Given the description of an element on the screen output the (x, y) to click on. 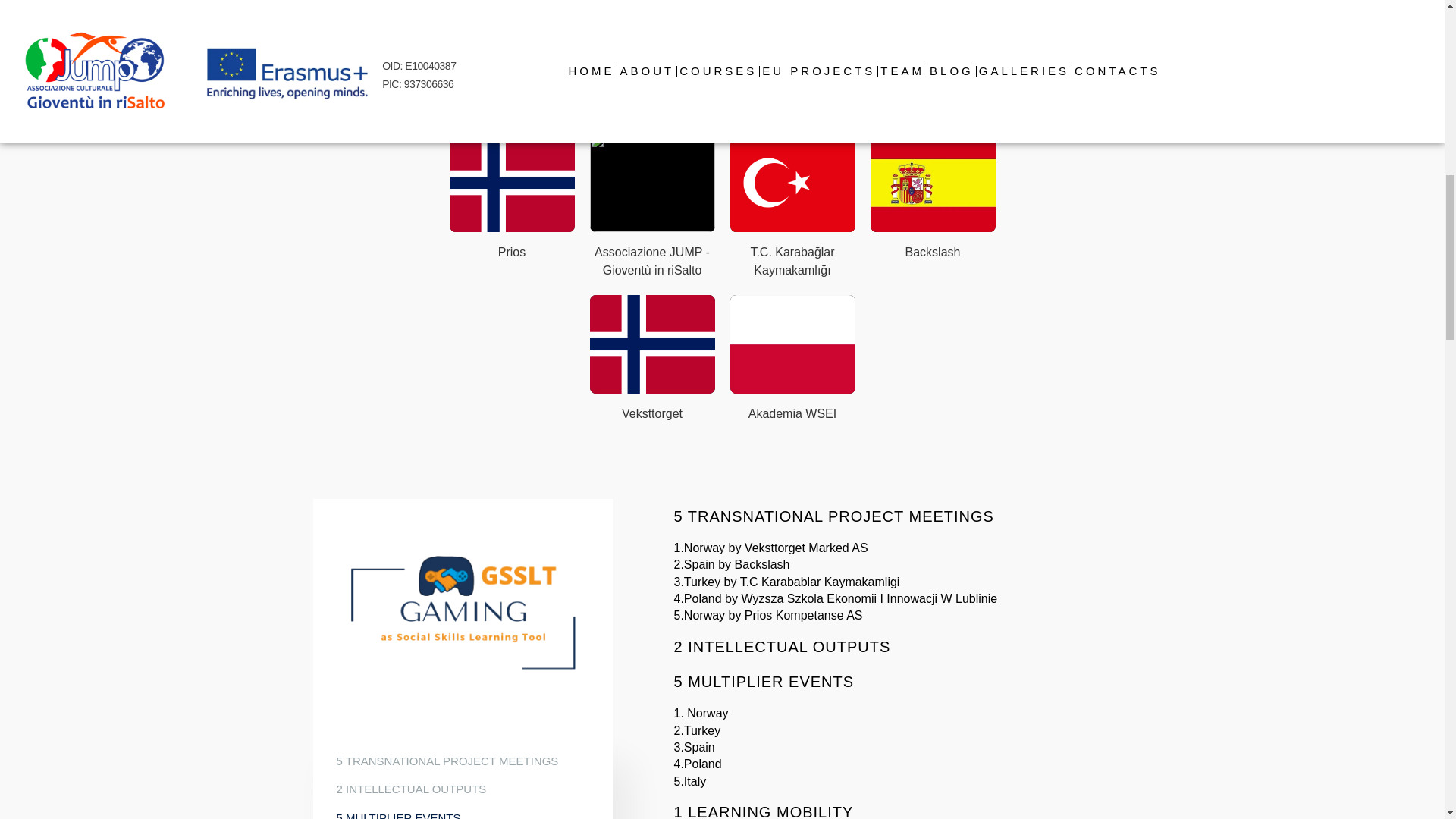
5 MULTIPLIER EVENTS (398, 812)
2 INTELLECTUAL OUTPUTS (411, 789)
5 TRANSNATIONAL PROJECT MEETINGS (447, 761)
